Given the description of an element on the screen output the (x, y) to click on. 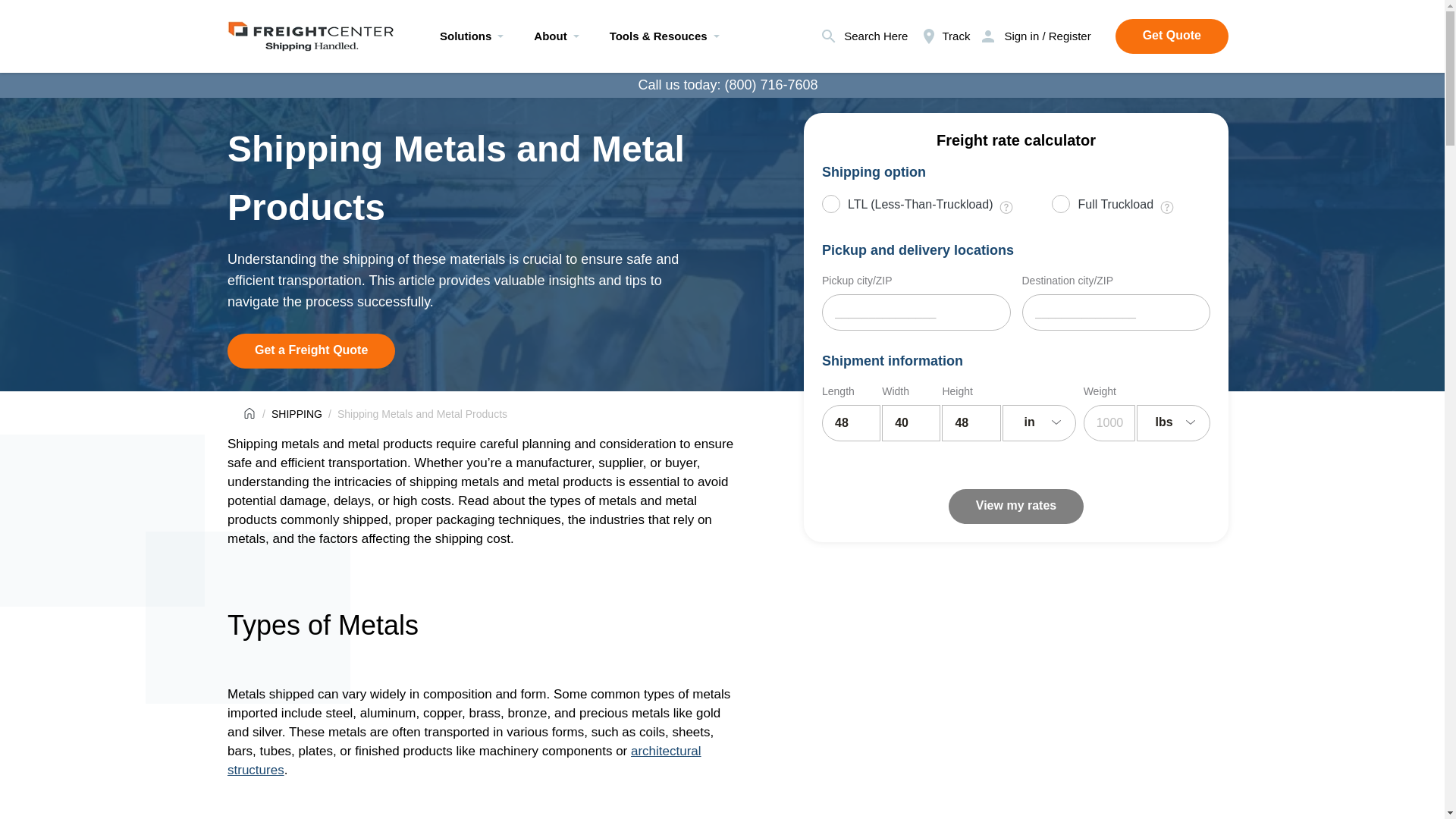
View my rates (1016, 506)
lbs (1173, 422)
48 (971, 422)
Get a Freight Quote (310, 350)
Get Quote (1171, 36)
Visit freightcenter.com (310, 31)
Track (944, 36)
SHIPPING (295, 413)
in (1039, 422)
48 (851, 422)
